Given the description of an element on the screen output the (x, y) to click on. 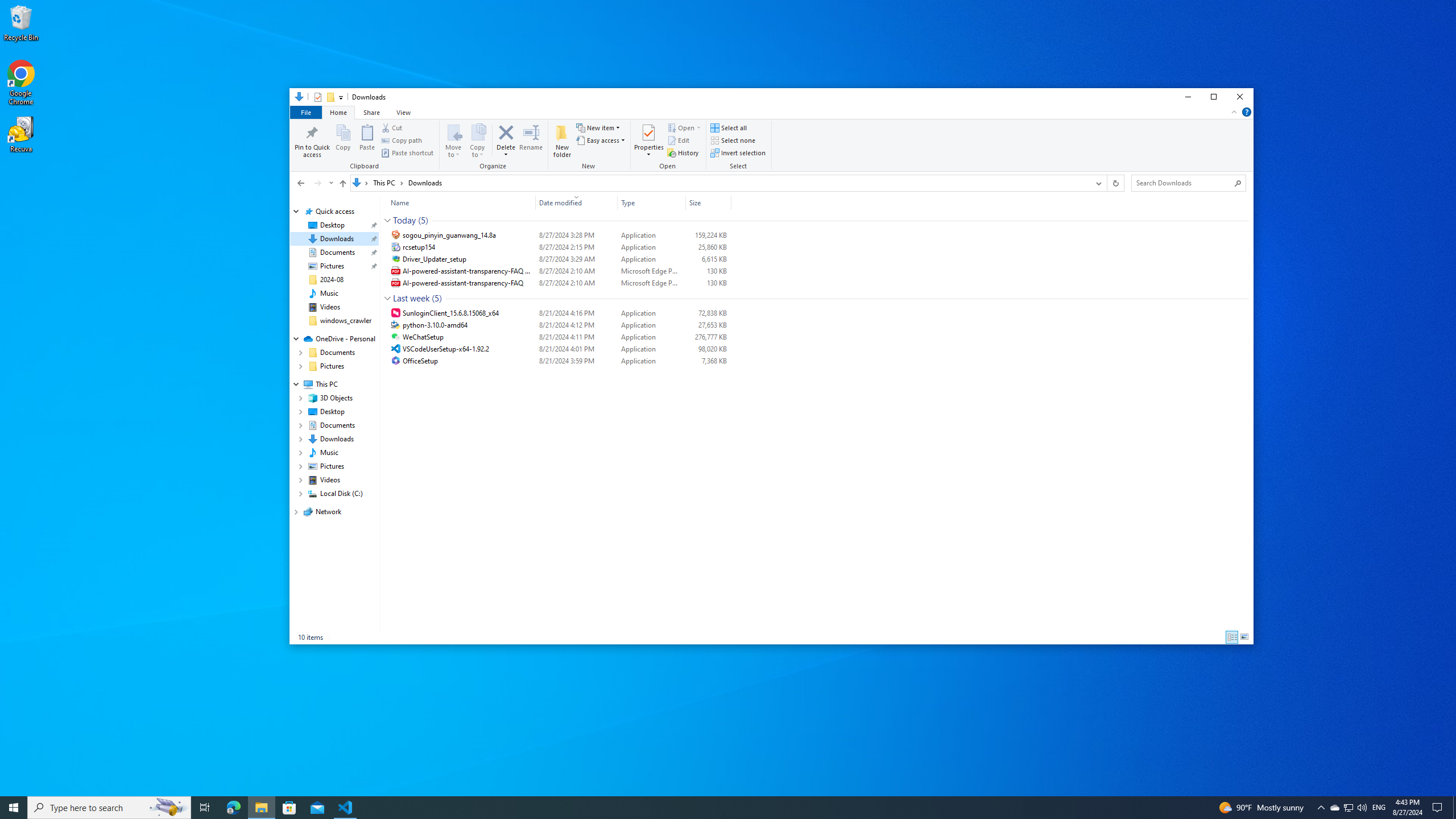
Size (707, 202)
Move to (453, 140)
This PC (388, 182)
rcsetup154 (558, 246)
System (295, 98)
Rename (531, 140)
Forward (Alt + Right Arrow) (317, 182)
View (403, 111)
New folder (562, 140)
Previous Locations (1097, 182)
Name (468, 360)
windows_crawler (345, 320)
